Given the description of an element on the screen output the (x, y) to click on. 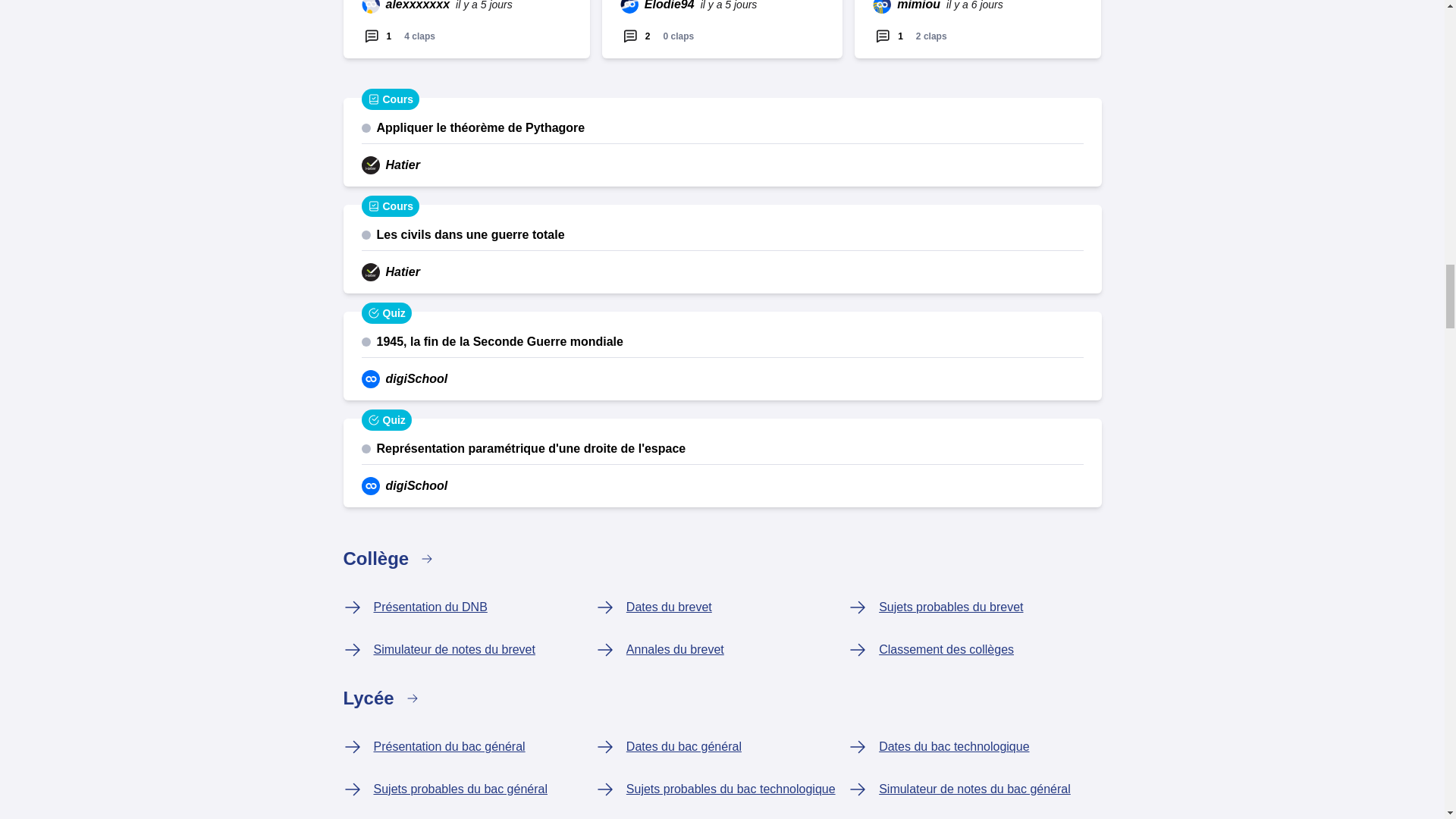
20 juillet 2024 (728, 6)
20 juillet 2024 (483, 6)
19 juillet 2024 (974, 6)
